Given the description of an element on the screen output the (x, y) to click on. 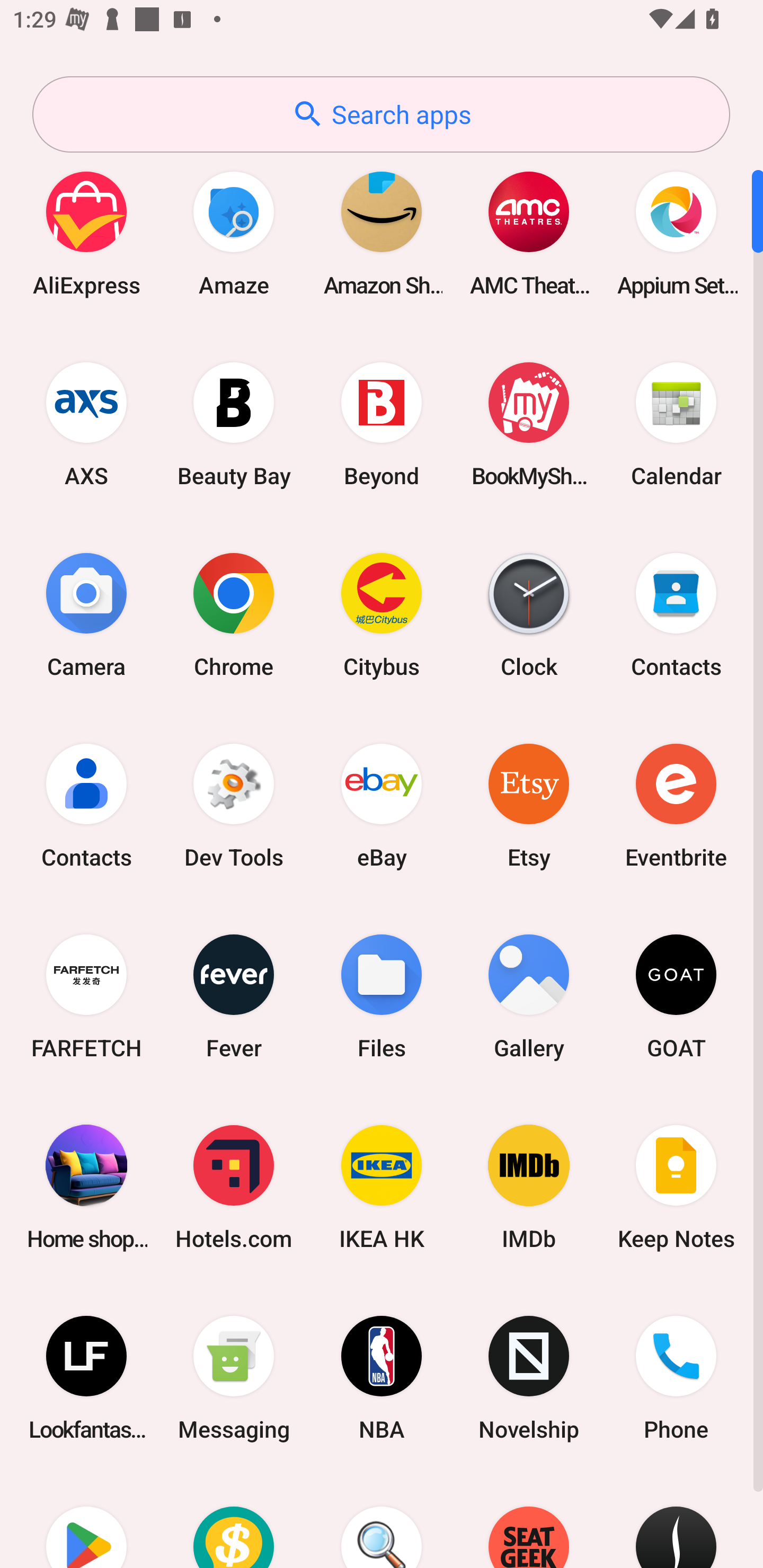
  Search apps (381, 114)
AliExpress (86, 233)
Amaze (233, 233)
Amazon Shopping (381, 233)
AMC Theatres (528, 233)
Appium Settings (676, 233)
AXS (86, 424)
Beauty Bay (233, 424)
Beyond (381, 424)
BookMyShow (528, 424)
Calendar (676, 424)
Camera (86, 614)
Chrome (233, 614)
Citybus (381, 614)
Clock (528, 614)
Contacts (676, 614)
Contacts (86, 805)
Dev Tools (233, 805)
eBay (381, 805)
Etsy (528, 805)
Eventbrite (676, 805)
FARFETCH (86, 996)
Fever (233, 996)
Files (381, 996)
Gallery (528, 996)
GOAT (676, 996)
Home shopping (86, 1186)
Hotels.com (233, 1186)
IKEA HK (381, 1186)
IMDb (528, 1186)
Keep Notes (676, 1186)
Lookfantastic (86, 1377)
Messaging (233, 1377)
NBA (381, 1377)
Novelship (528, 1377)
Phone (676, 1377)
